Given the description of an element on the screen output the (x, y) to click on. 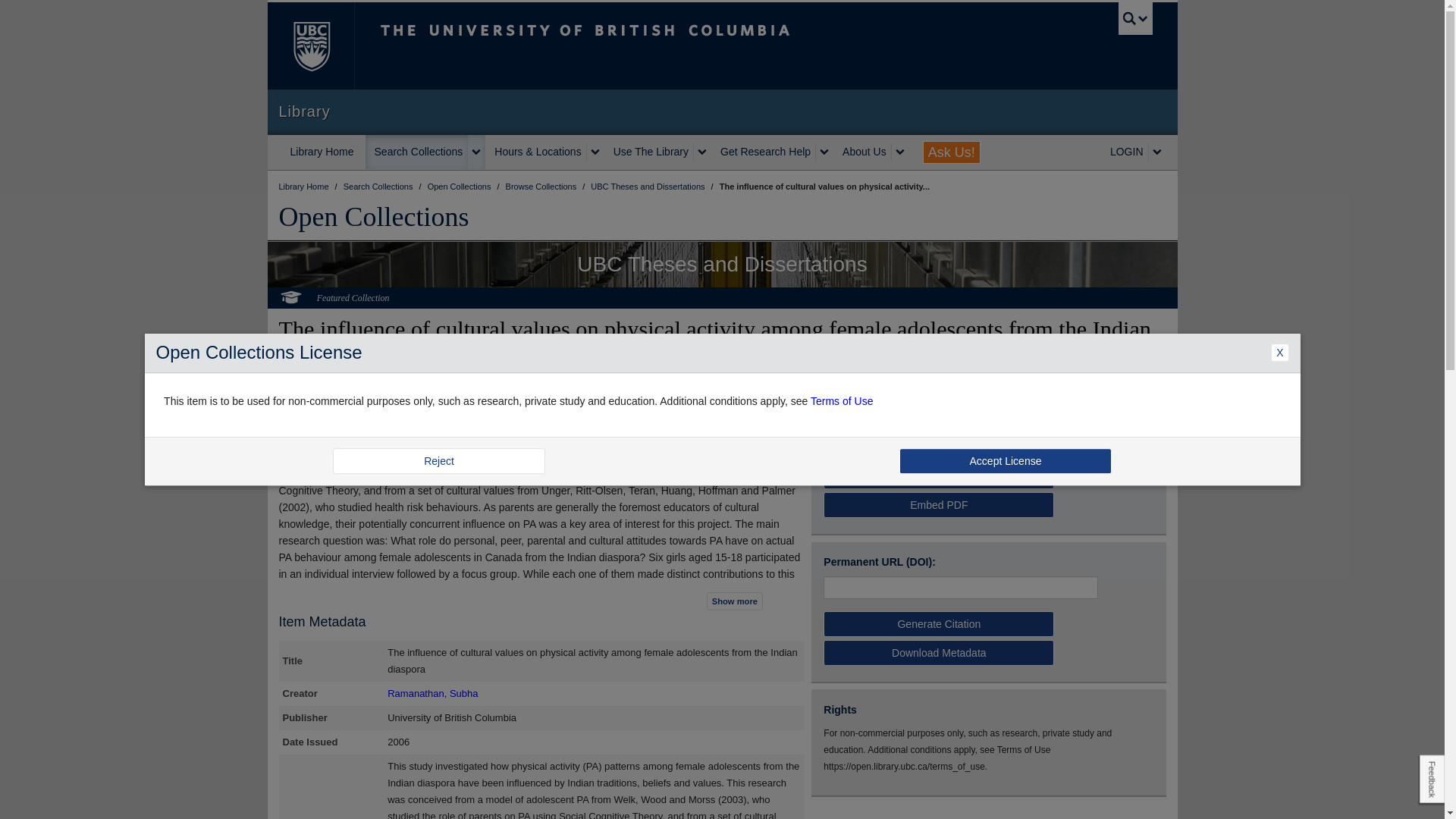
Search Collections (416, 151)
UBC Library (305, 185)
The University of British Columbia (309, 45)
Library Home (322, 151)
Browse Collections (542, 185)
Search Collections (378, 185)
UBC Search (1135, 18)
Library (722, 111)
open file (848, 437)
Open Collections (460, 185)
The University of British Columbia (635, 45)
Open Collections (373, 216)
